Given the description of an element on the screen output the (x, y) to click on. 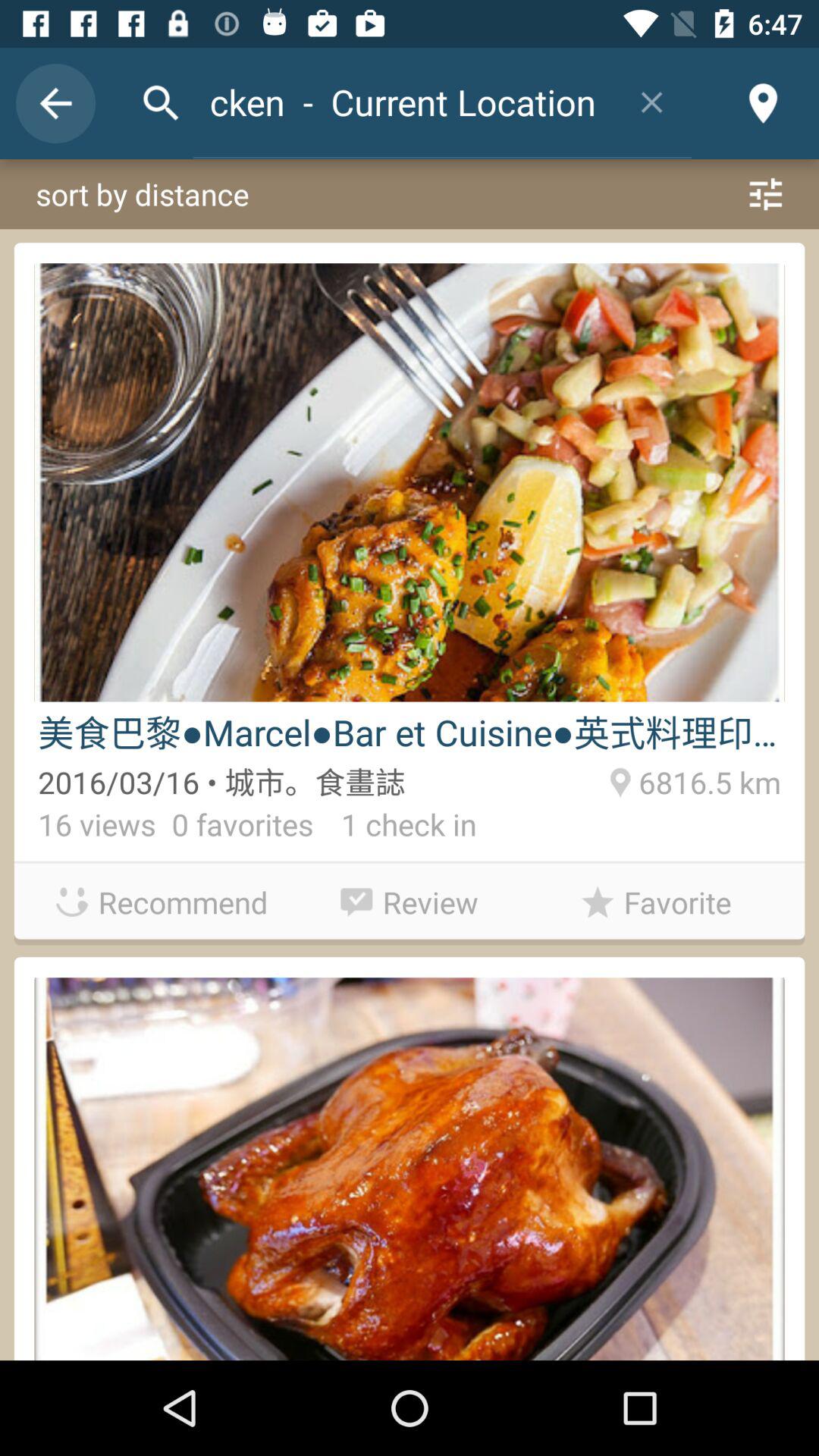
select app to the left of 6816.5 km app (394, 828)
